Given the description of an element on the screen output the (x, y) to click on. 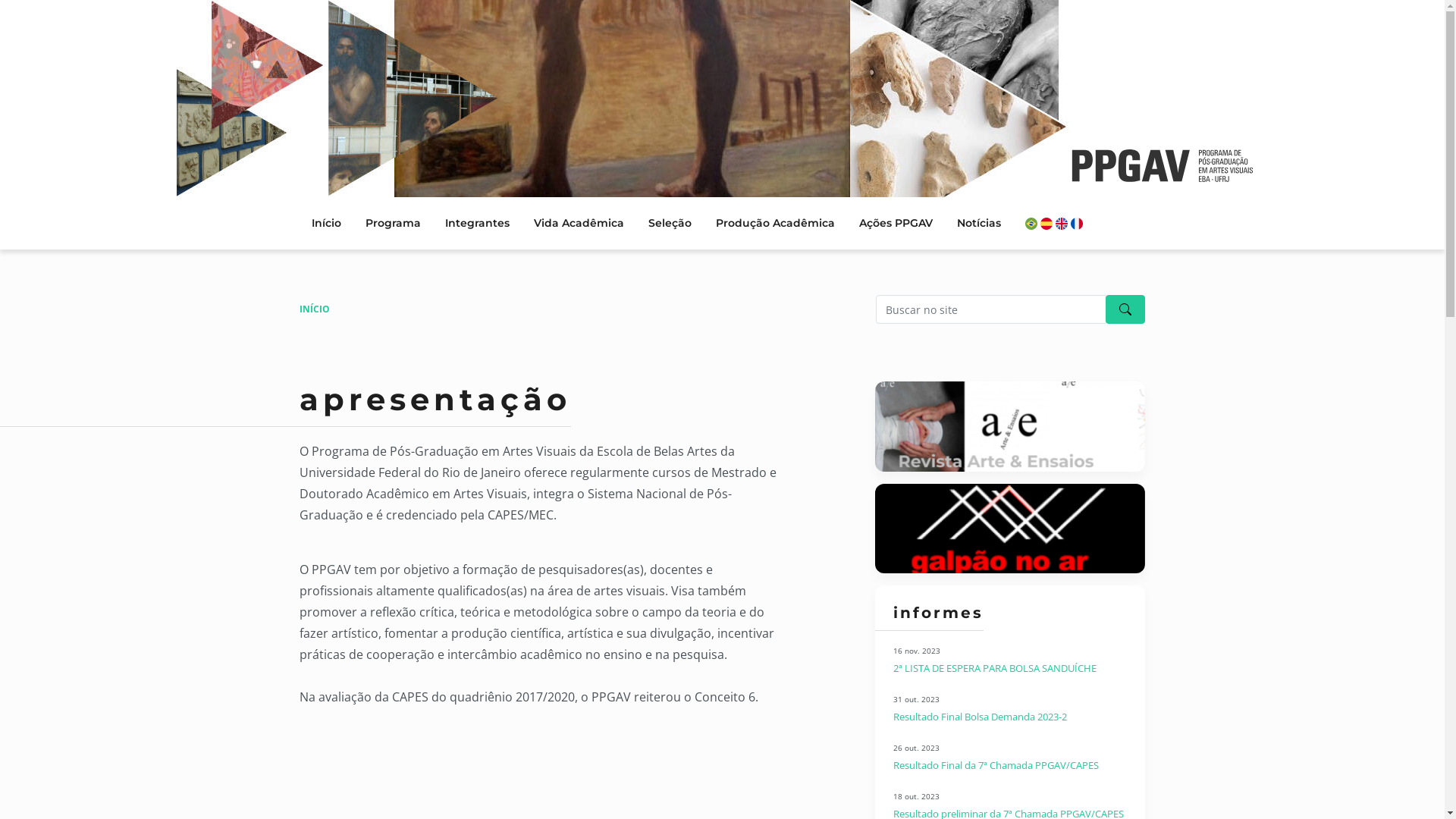
Integrantes Element type: text (476, 223)
Programa Element type: text (392, 223)
Resultado Final Bolsa Demanda 2023-2 Element type: text (979, 716)
